Given the description of an element on the screen output the (x, y) to click on. 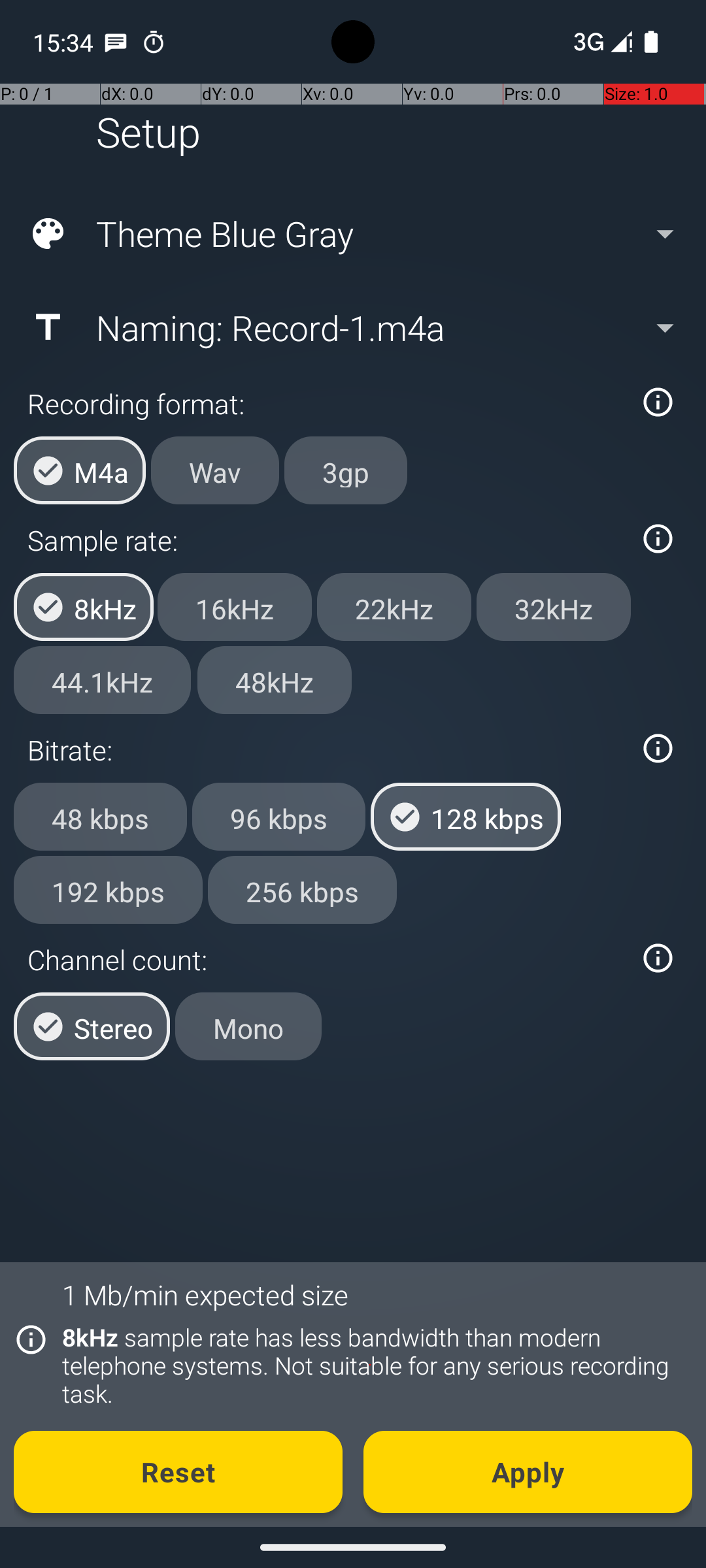
8kHz sample rate has less bandwidth than modern telephone systems. Not suitable for any serious recording task. Element type: android.widget.TextView (370, 1364)
